Given the description of an element on the screen output the (x, y) to click on. 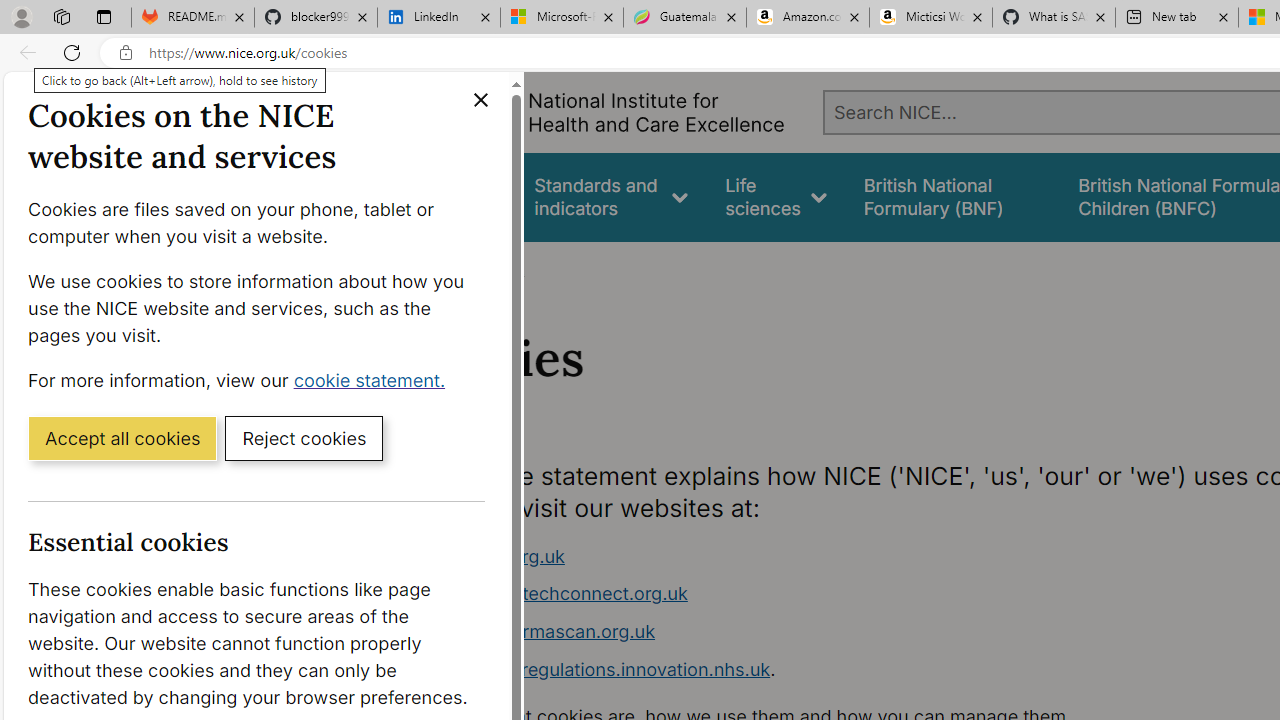
Home> (433, 268)
www.nice.org.uk (796, 556)
cookie statement. (Opens in a new window) (373, 379)
false (952, 196)
Close cookie banner (480, 99)
